Given the description of an element on the screen output the (x, y) to click on. 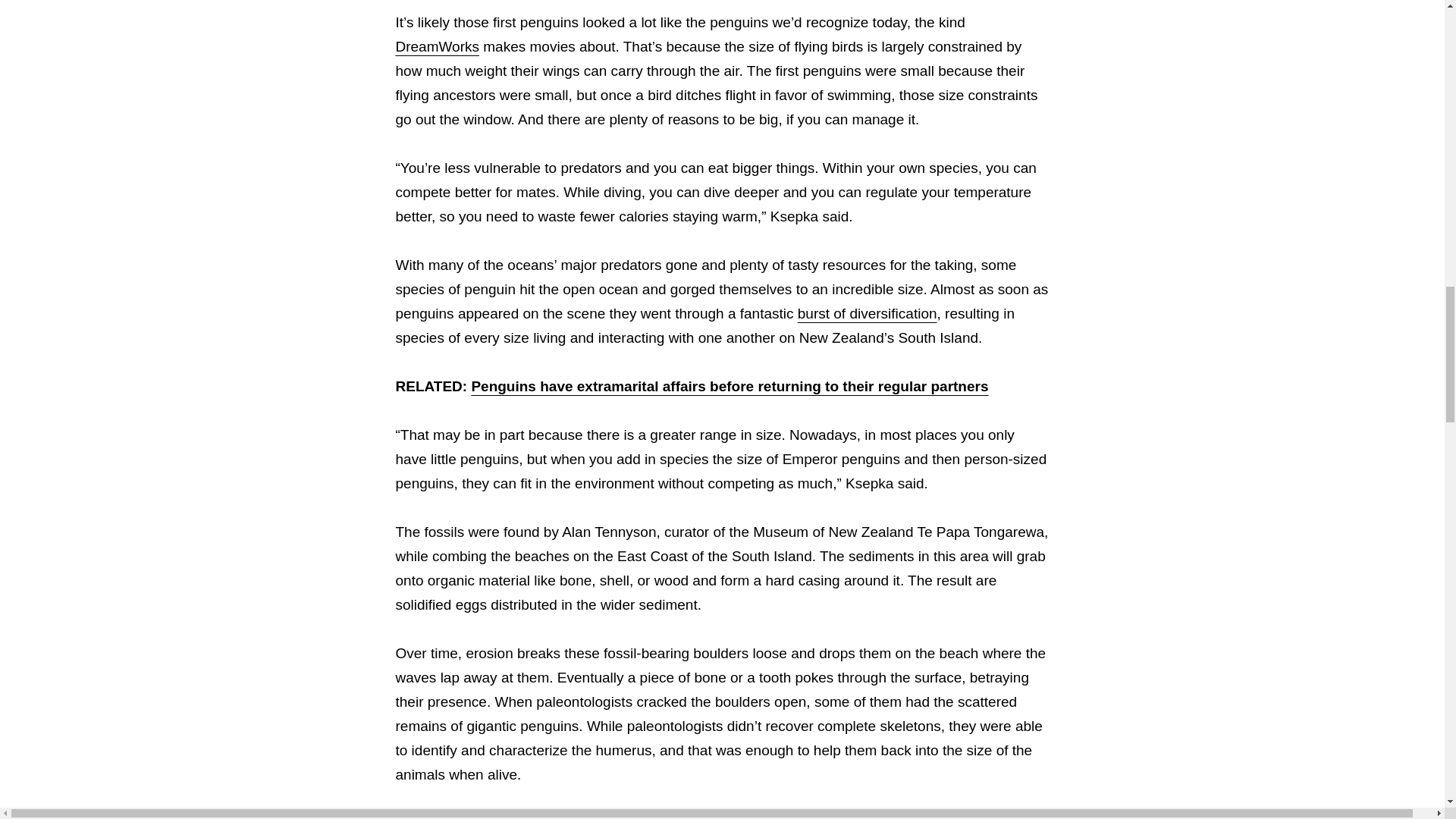
DreamWorks (438, 46)
burst of diversification (867, 313)
